Given the description of an element on the screen output the (x, y) to click on. 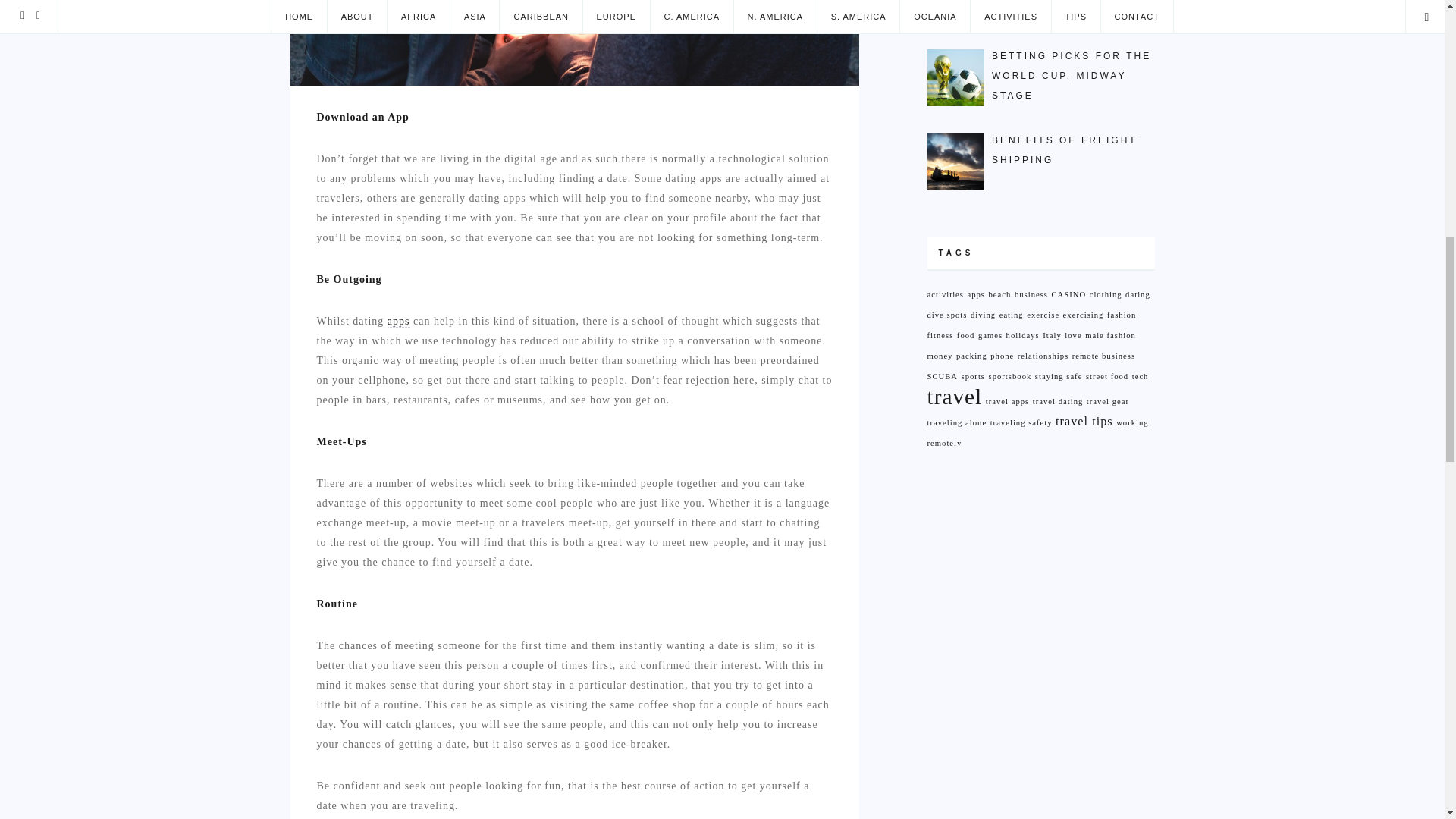
apps (398, 321)
